Given the description of an element on the screen output the (x, y) to click on. 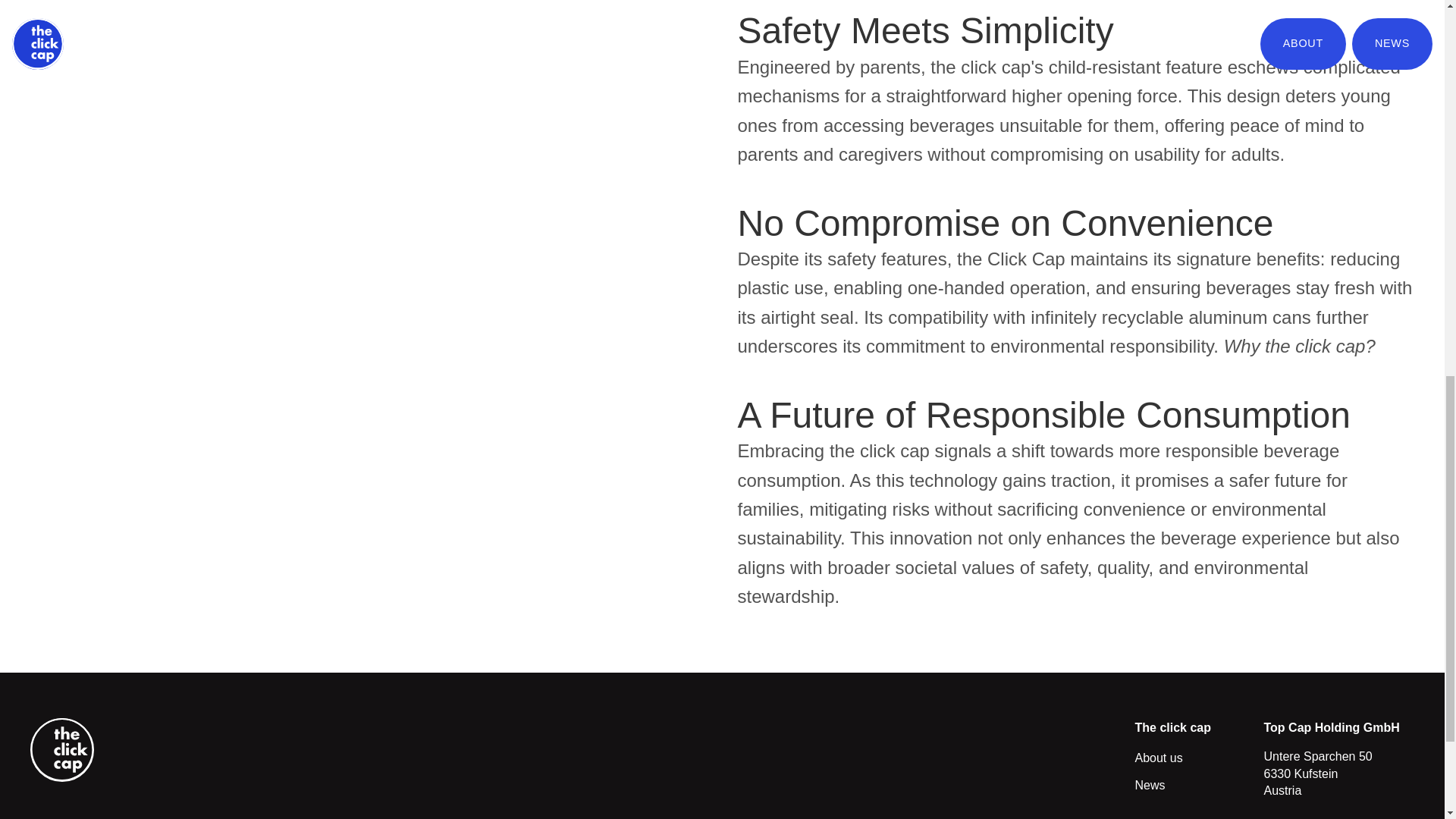
About us (1158, 757)
Why the click cap? (1299, 345)
News (1149, 784)
